Given the description of an element on the screen output the (x, y) to click on. 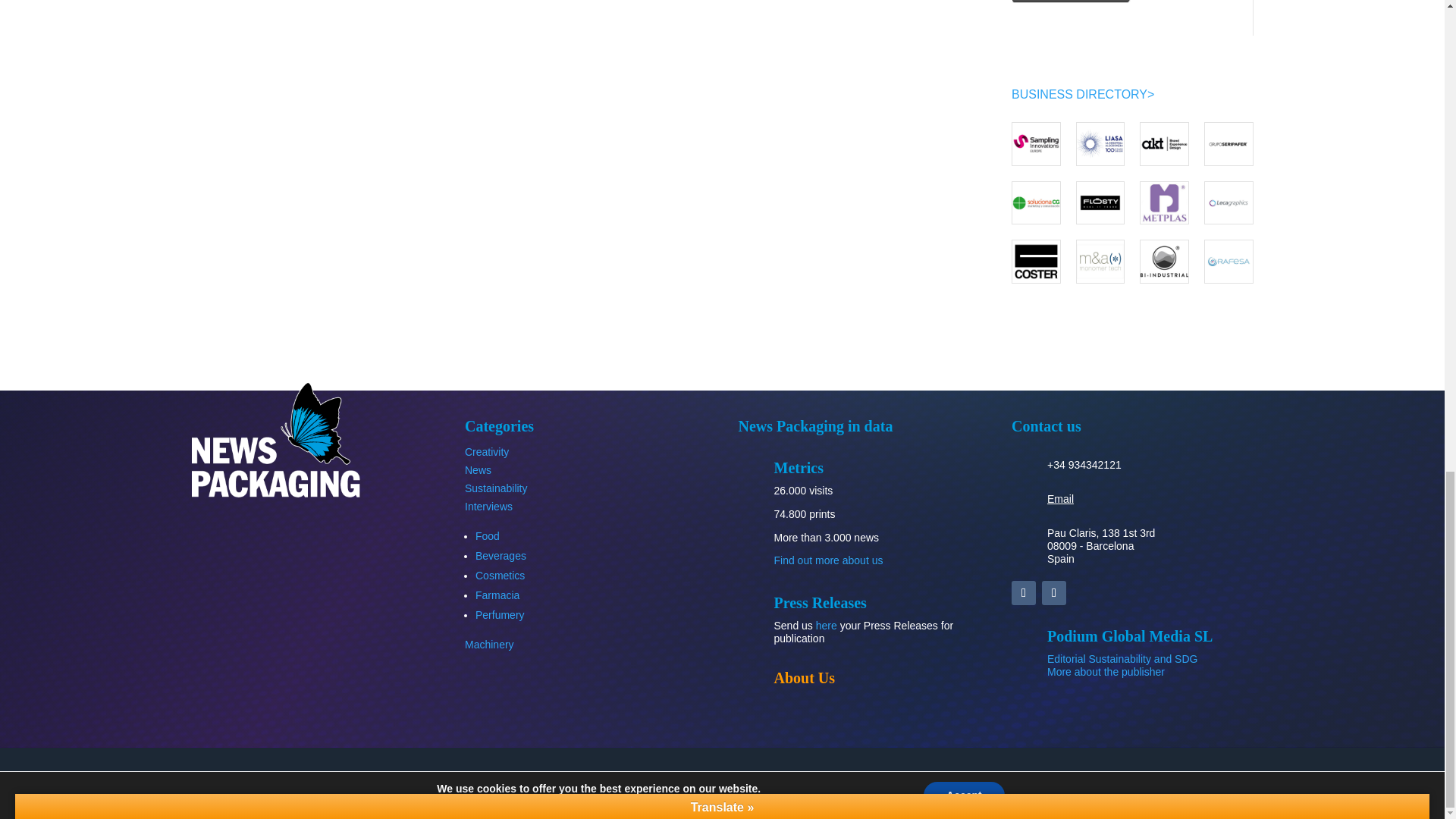
Vertical logo (274, 439)
Follow on LinkedIn (1023, 592)
Follow on Pinterest (1053, 592)
